Given the description of an element on the screen output the (x, y) to click on. 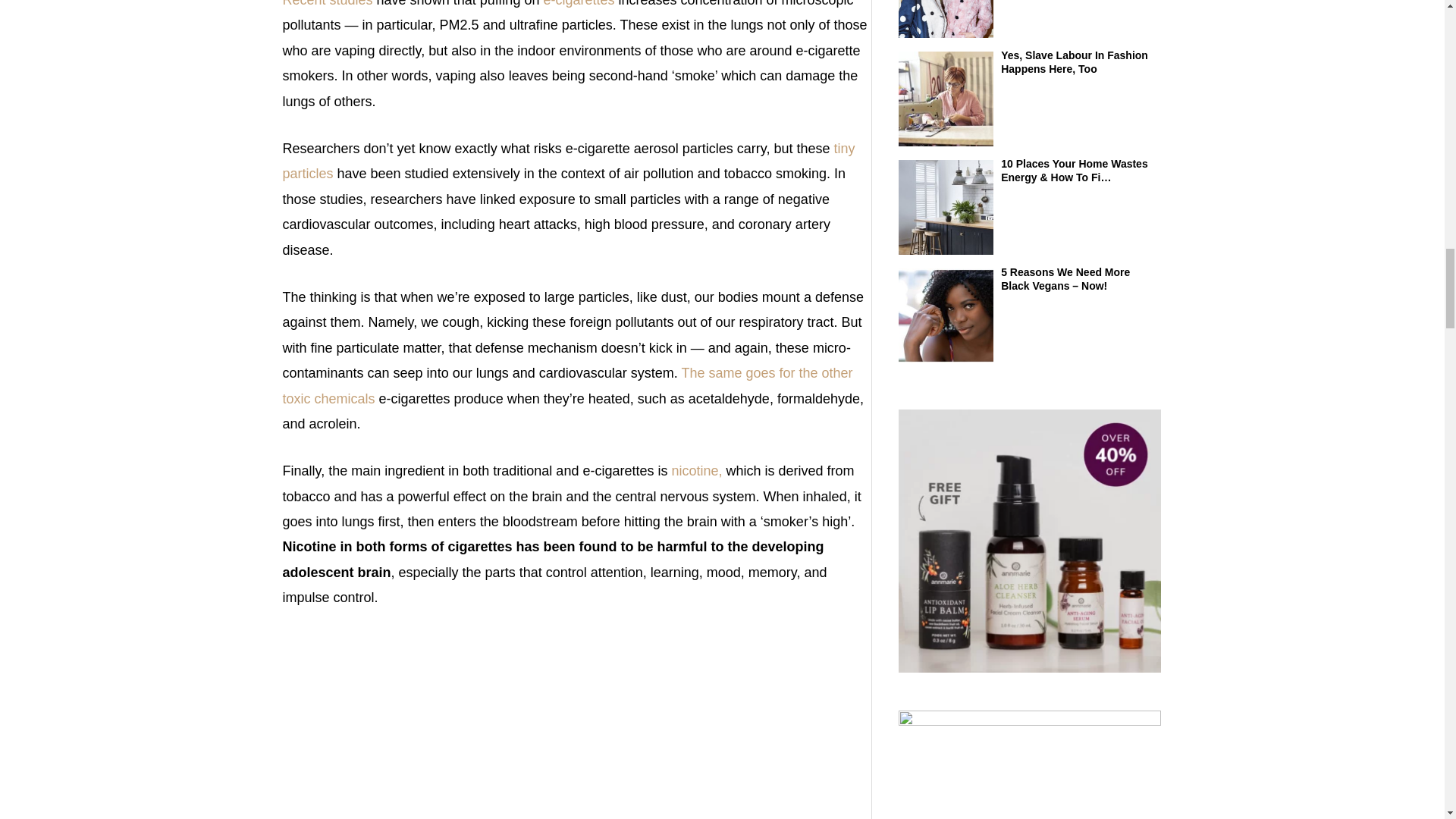
How Instagram promotes electronic cigarettes to children (576, 725)
